Given the description of an element on the screen output the (x, y) to click on. 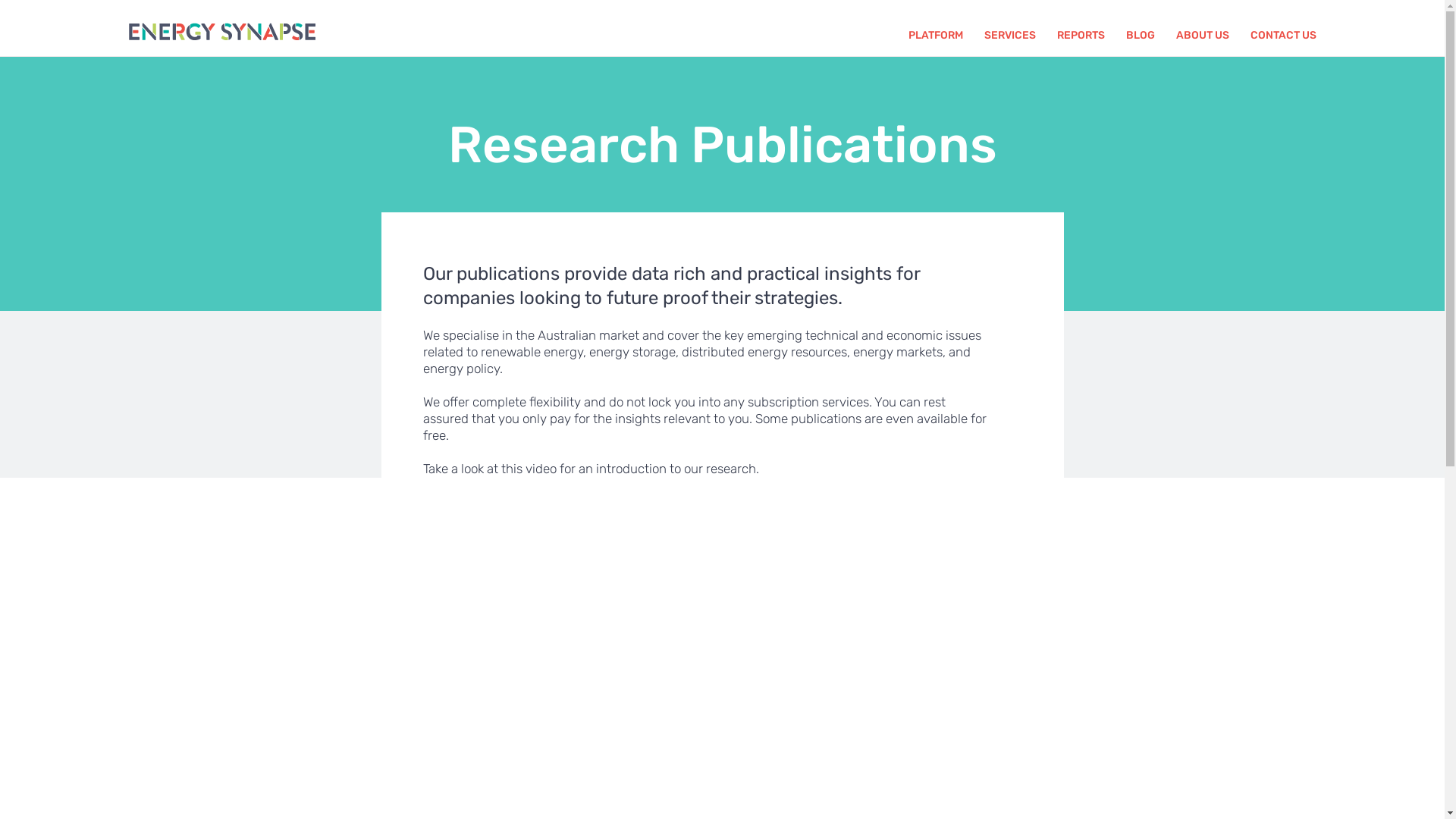
BLOG Element type: text (1140, 35)
REPORTS Element type: text (1080, 35)
CONTACT US Element type: text (1283, 35)
SERVICES Element type: text (1009, 35)
ABOUT US Element type: text (1202, 35)
PLATFORM Element type: text (935, 35)
